Given the description of an element on the screen output the (x, y) to click on. 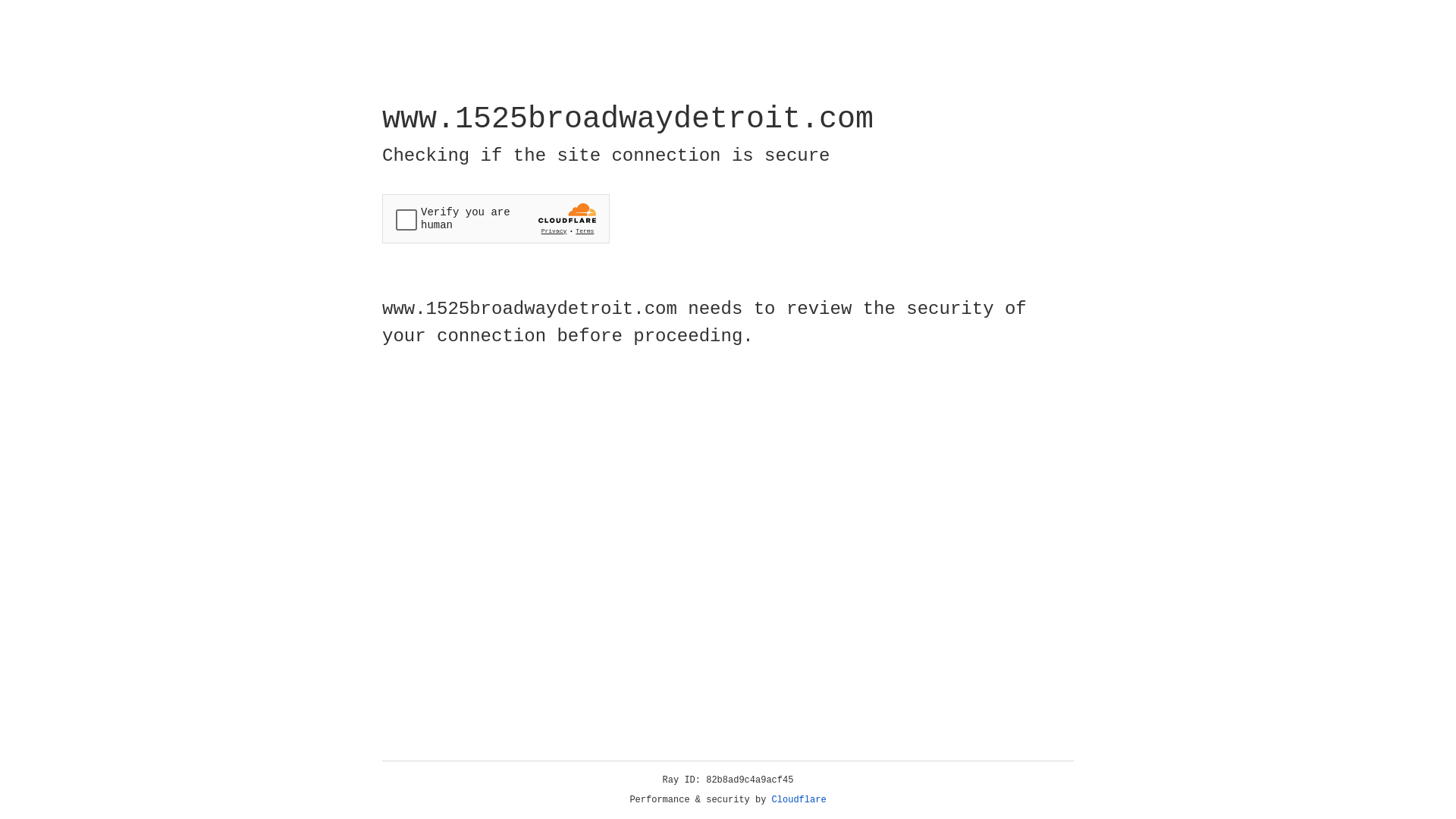
Widget containing a Cloudflare security challenge Element type: hover (495, 218)
Cloudflare Element type: text (798, 799)
